Given the description of an element on the screen output the (x, y) to click on. 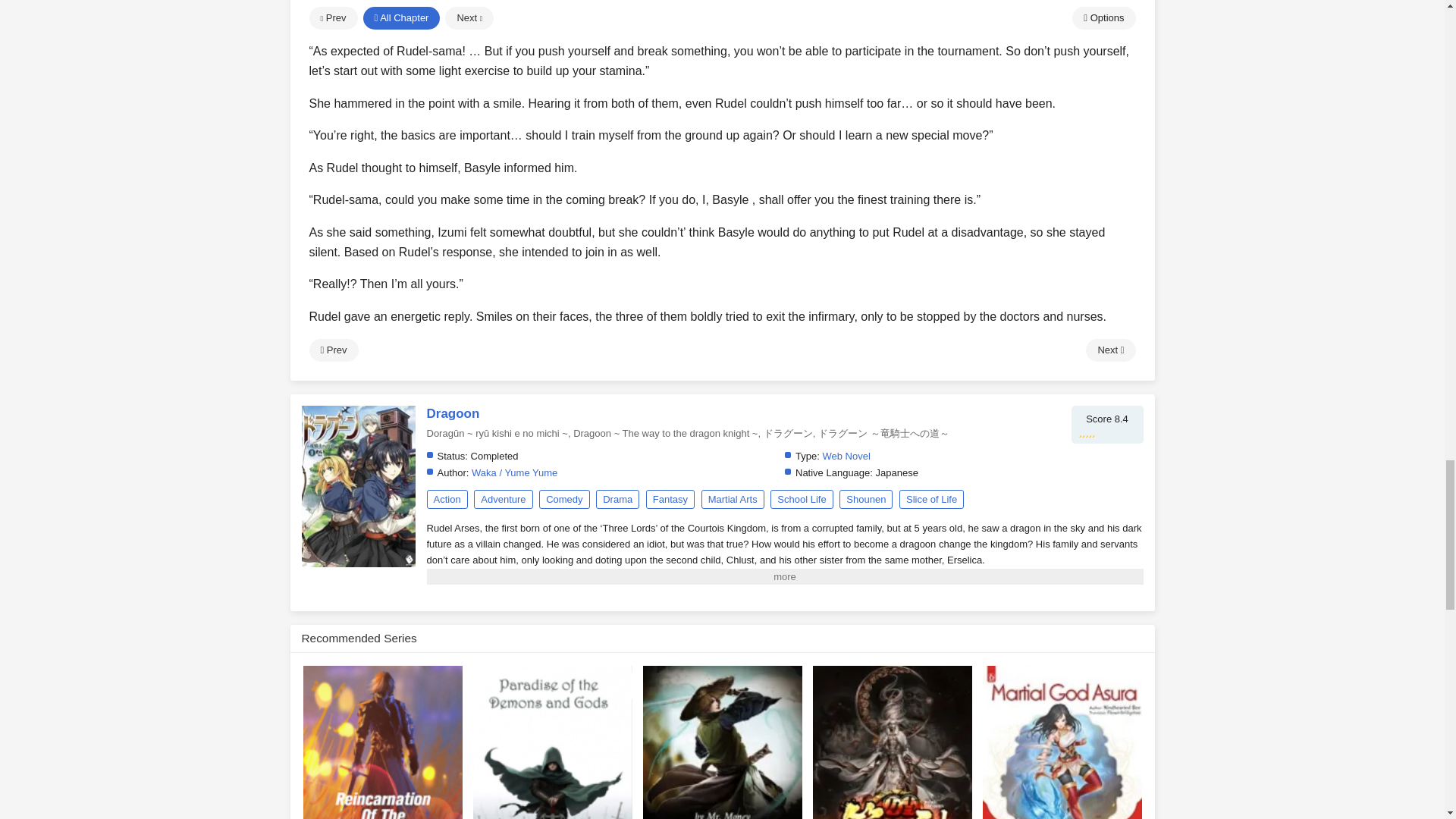
Shounen (866, 498)
Prev (333, 350)
Web Novel (845, 455)
Comedy (563, 498)
Next (722, 742)
Reincarnation Of The Strongest Sword God (1110, 350)
Martial Arts (1061, 742)
Martial God Asura (382, 742)
